Given the description of an element on the screen output the (x, y) to click on. 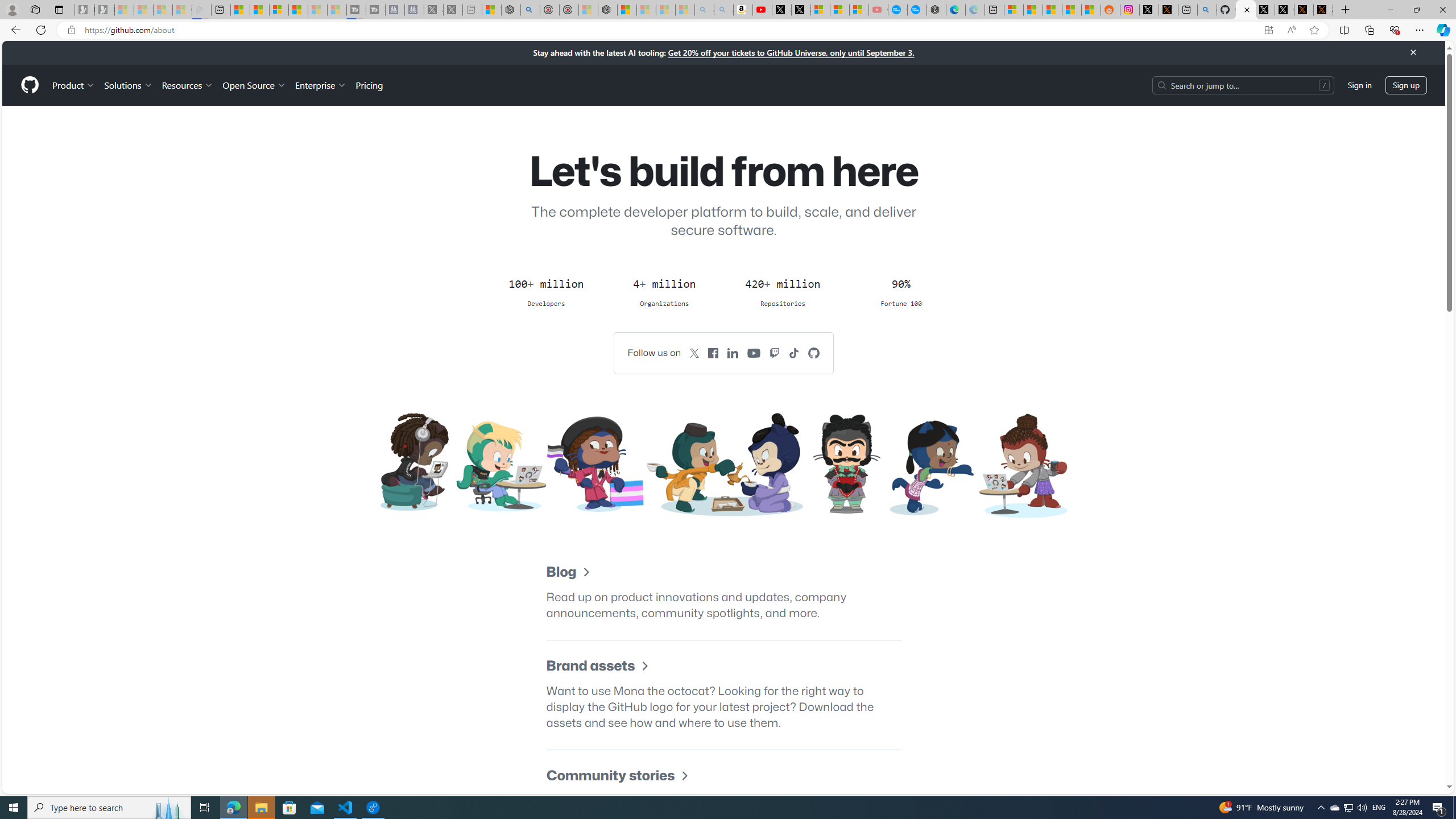
Shanghai, China hourly forecast | Microsoft Weather (1052, 9)
Gloom - YouTube - Sleeping (877, 9)
Resources (187, 84)
Open Source (254, 84)
Solutions (128, 84)
Product (74, 84)
Profile / X (1264, 9)
